Given the description of an element on the screen output the (x, y) to click on. 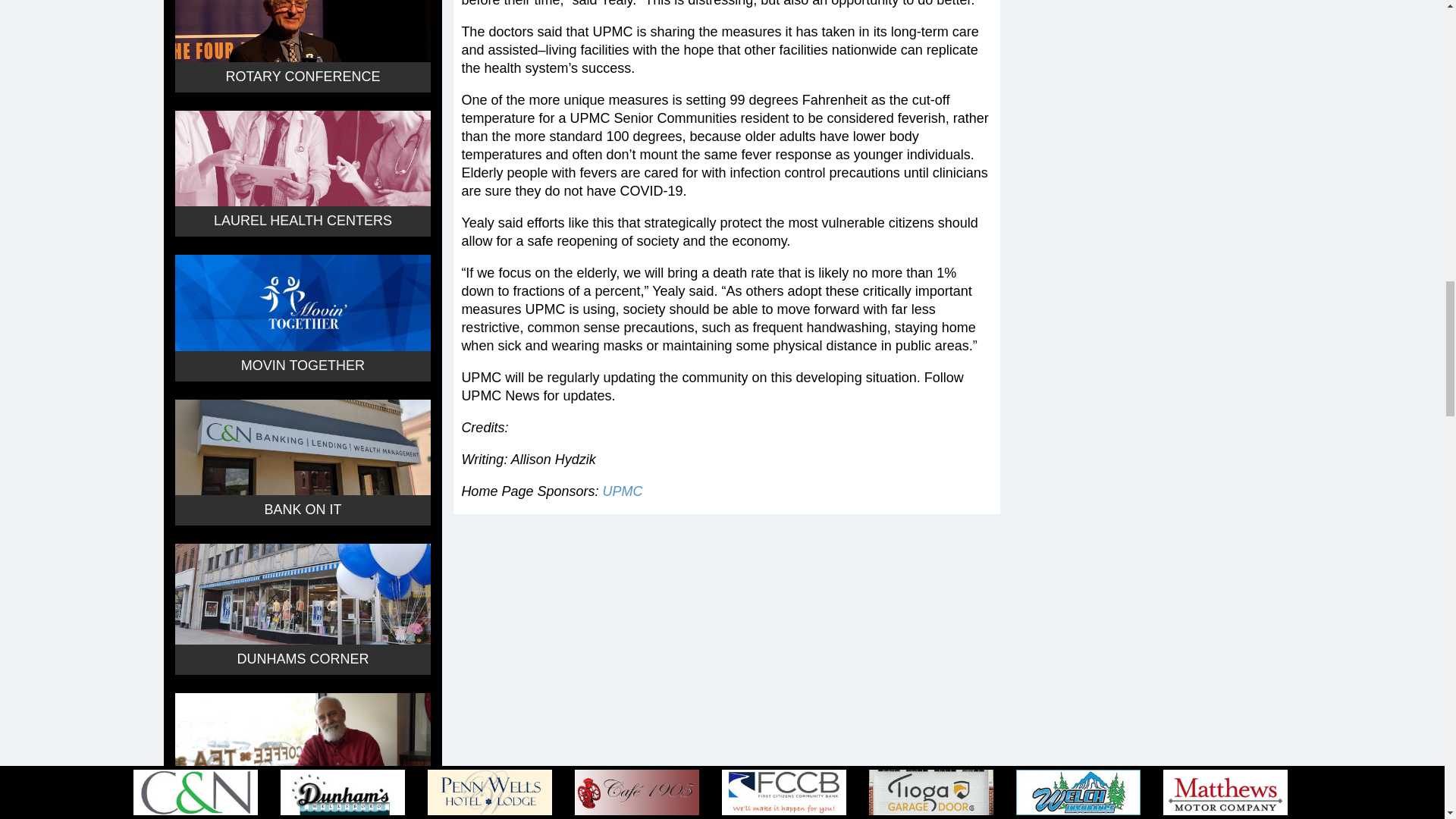
Laurel Health Centers (301, 158)
Movin Together (301, 302)
Dunhams Corner (301, 593)
Bank On It (301, 447)
Rotary Conference (301, 30)
